Given the description of an element on the screen output the (x, y) to click on. 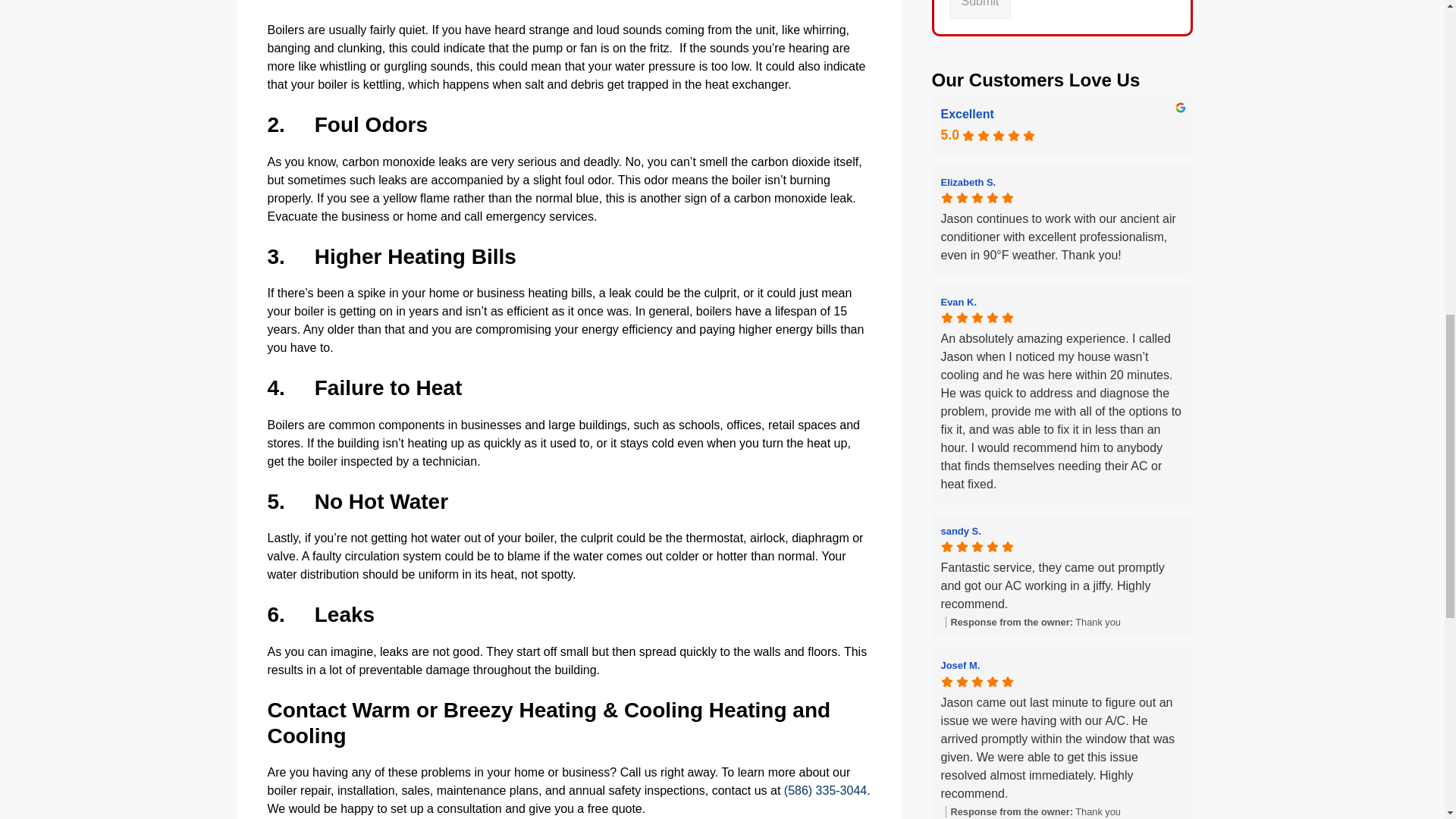
Elizabeth S. (1061, 182)
Josef M. (959, 665)
Elizabeth S. (967, 182)
Response from the owner: Thank you (1063, 811)
sandy S. (1061, 530)
Submit (980, 9)
Josef M. (1061, 664)
sandy S. (959, 531)
Response from the owner: Thank you (1063, 622)
Evan K. (1061, 301)
Evan K. (958, 301)
